Given the description of an element on the screen output the (x, y) to click on. 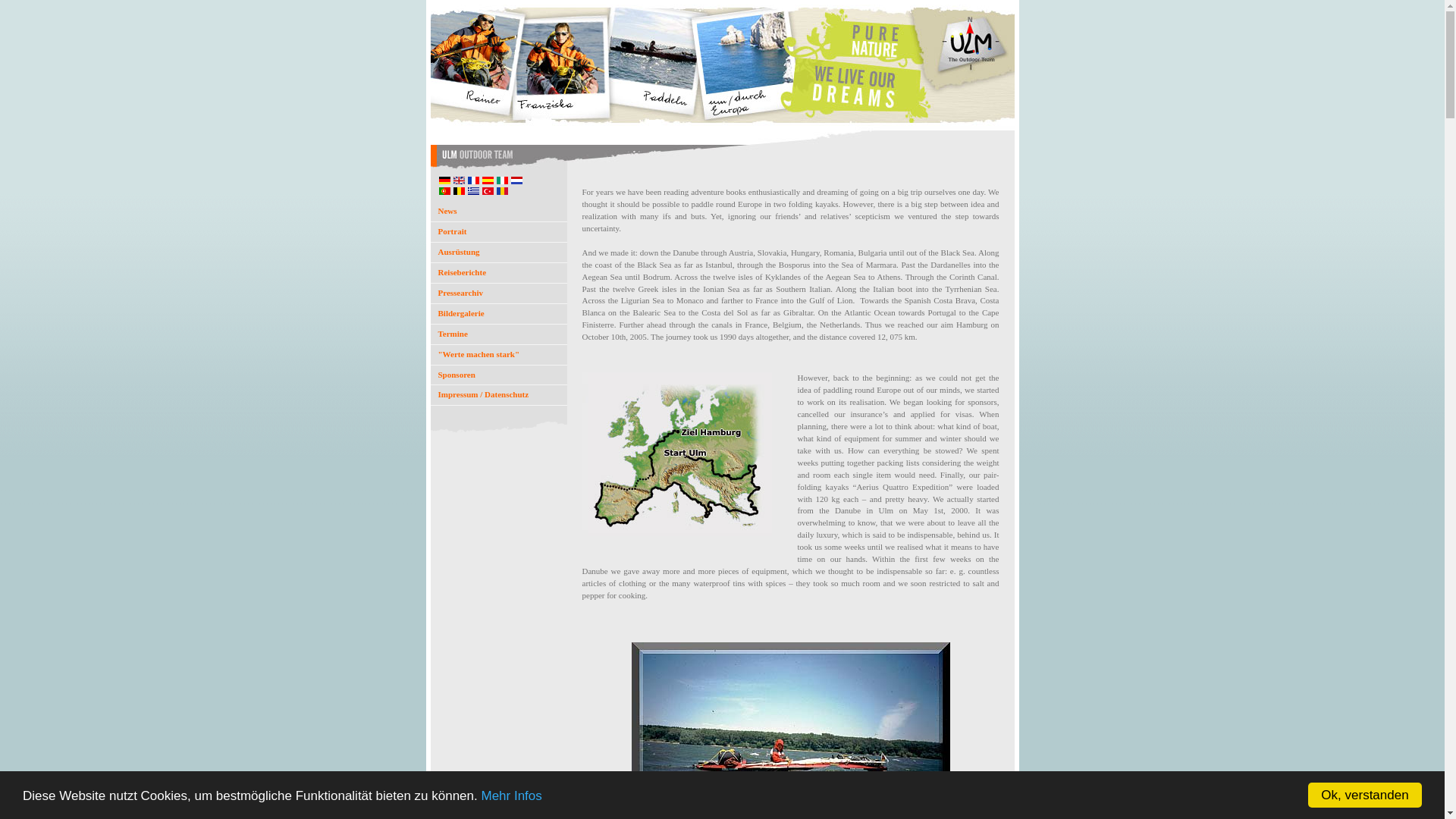
Sponsoren (498, 374)
Portrait (498, 231)
Termine (498, 333)
Zur Startseite (722, 167)
Pressearchiv (498, 293)
Bildergalerie (498, 313)
"Werte machen stark" (498, 354)
Reiseberichte (498, 272)
News (498, 211)
